Given the description of an element on the screen output the (x, y) to click on. 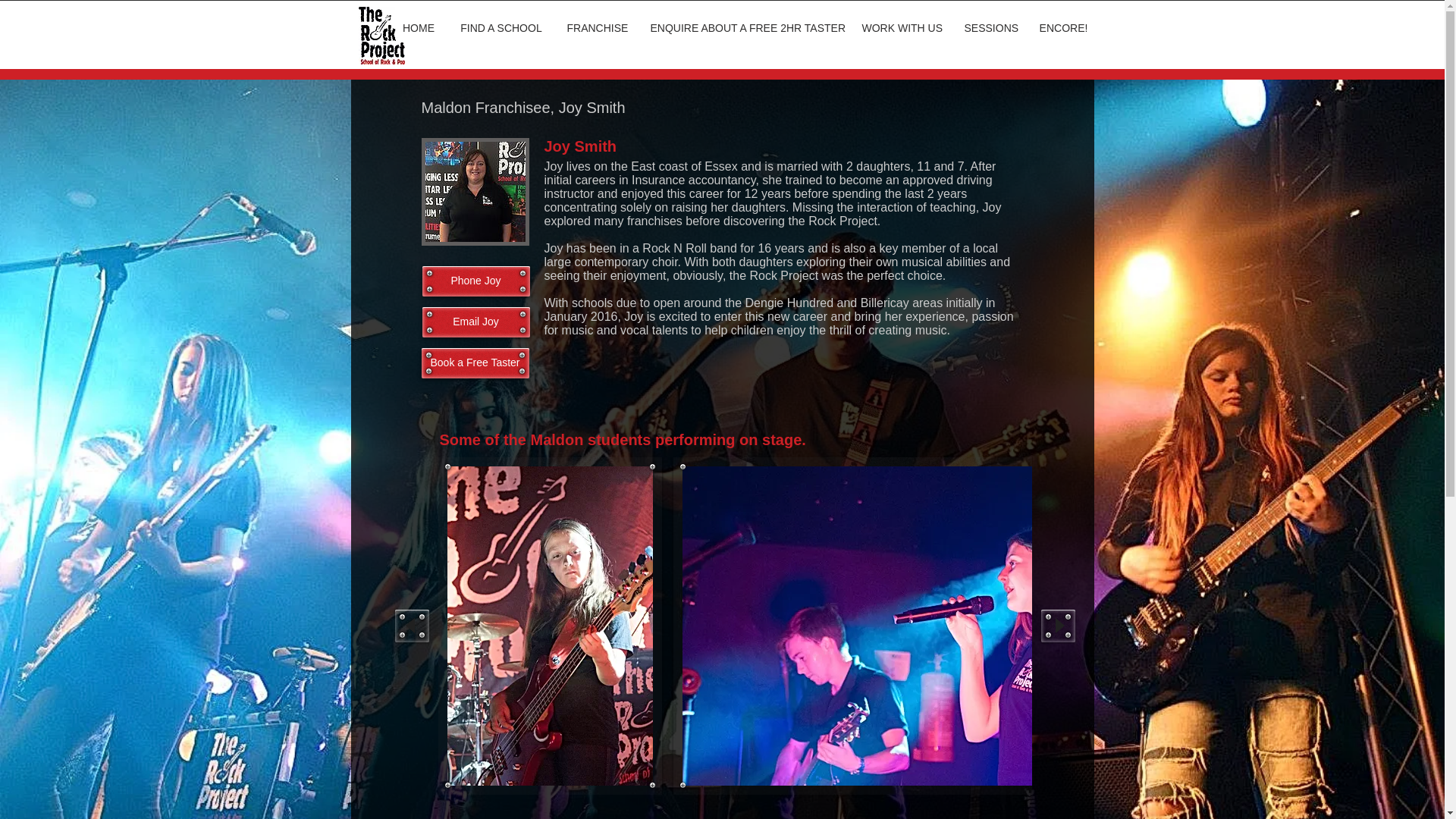
ENCORE! (1063, 27)
FIND A SCHOOL (501, 27)
FRANCHISE (596, 27)
Book a Free Taster (475, 363)
SESSIONS (989, 27)
WORK WITH US (901, 27)
Phone Joy (475, 281)
HOME (418, 27)
ENQUIRE ABOUT A FREE 2HR TASTER (744, 27)
Email Joy (475, 322)
